Given the description of an element on the screen output the (x, y) to click on. 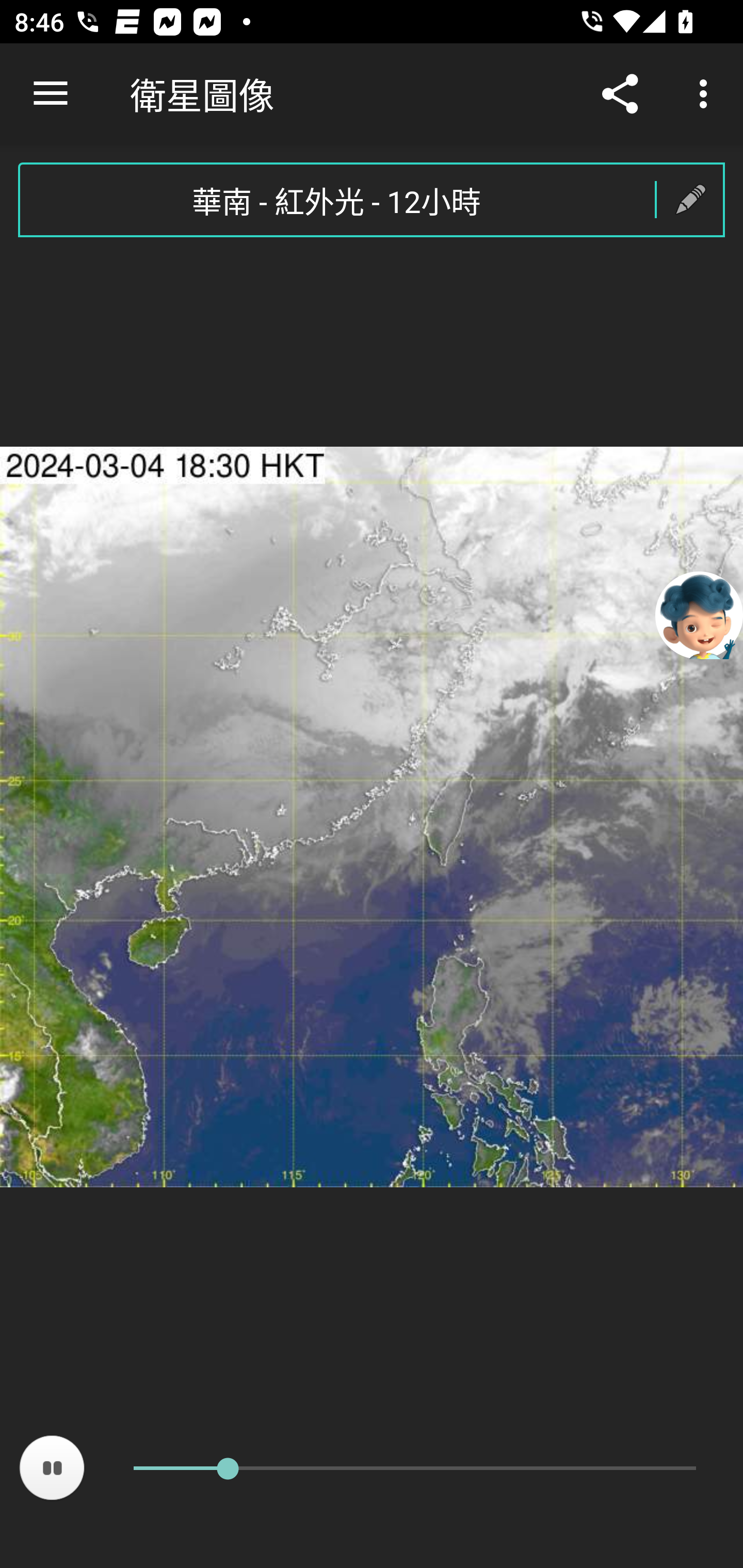
向上瀏覽 (50, 93)
分享 (619, 93)
更多選項 (706, 93)
華南 - 紅外光 - 12小時 編輯 (371, 199)
聊天機械人 (699, 614)
暫停 (51, 1468)
